Given the description of an element on the screen output the (x, y) to click on. 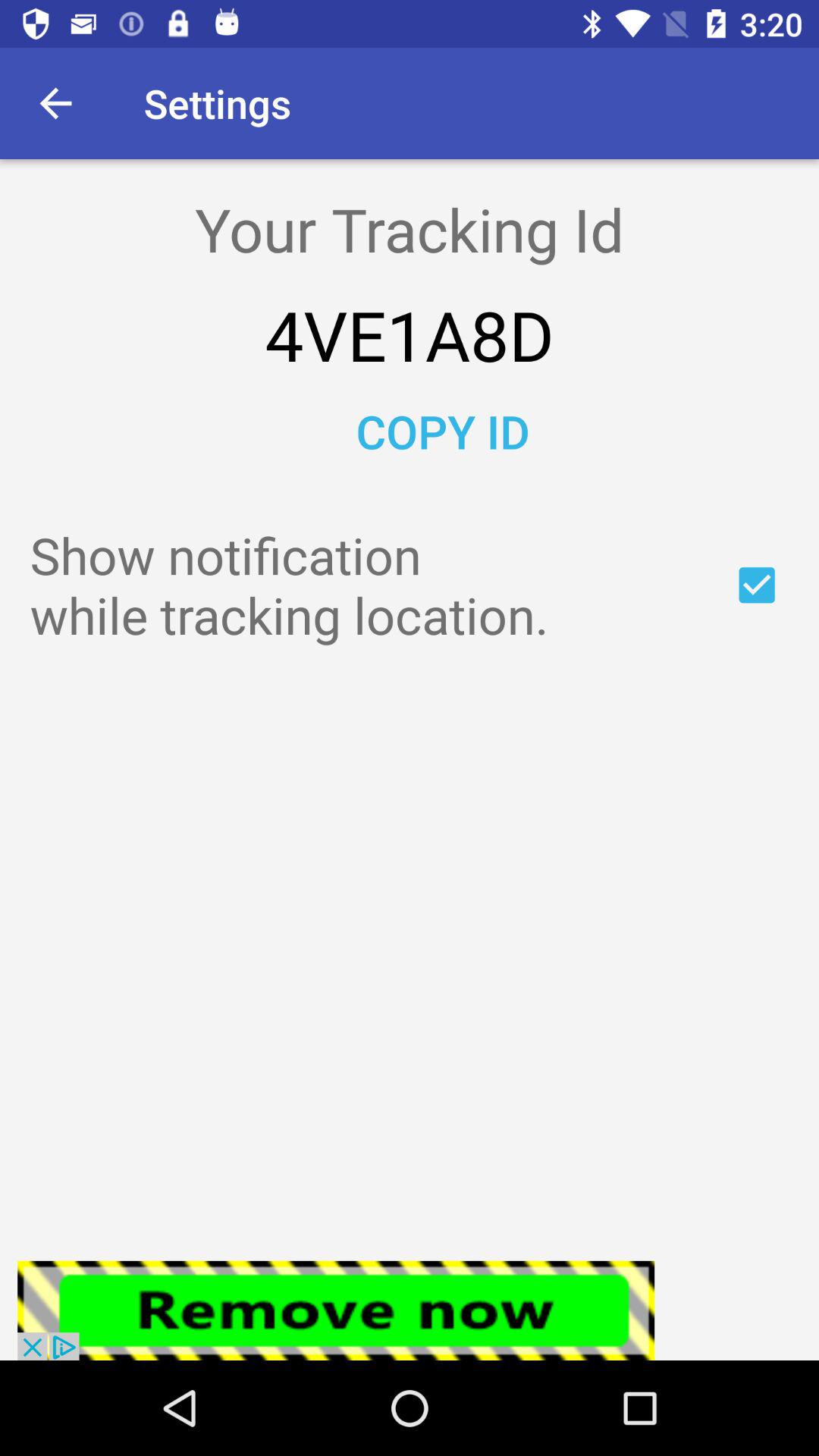
go to add (756, 585)
